Given the description of an element on the screen output the (x, y) to click on. 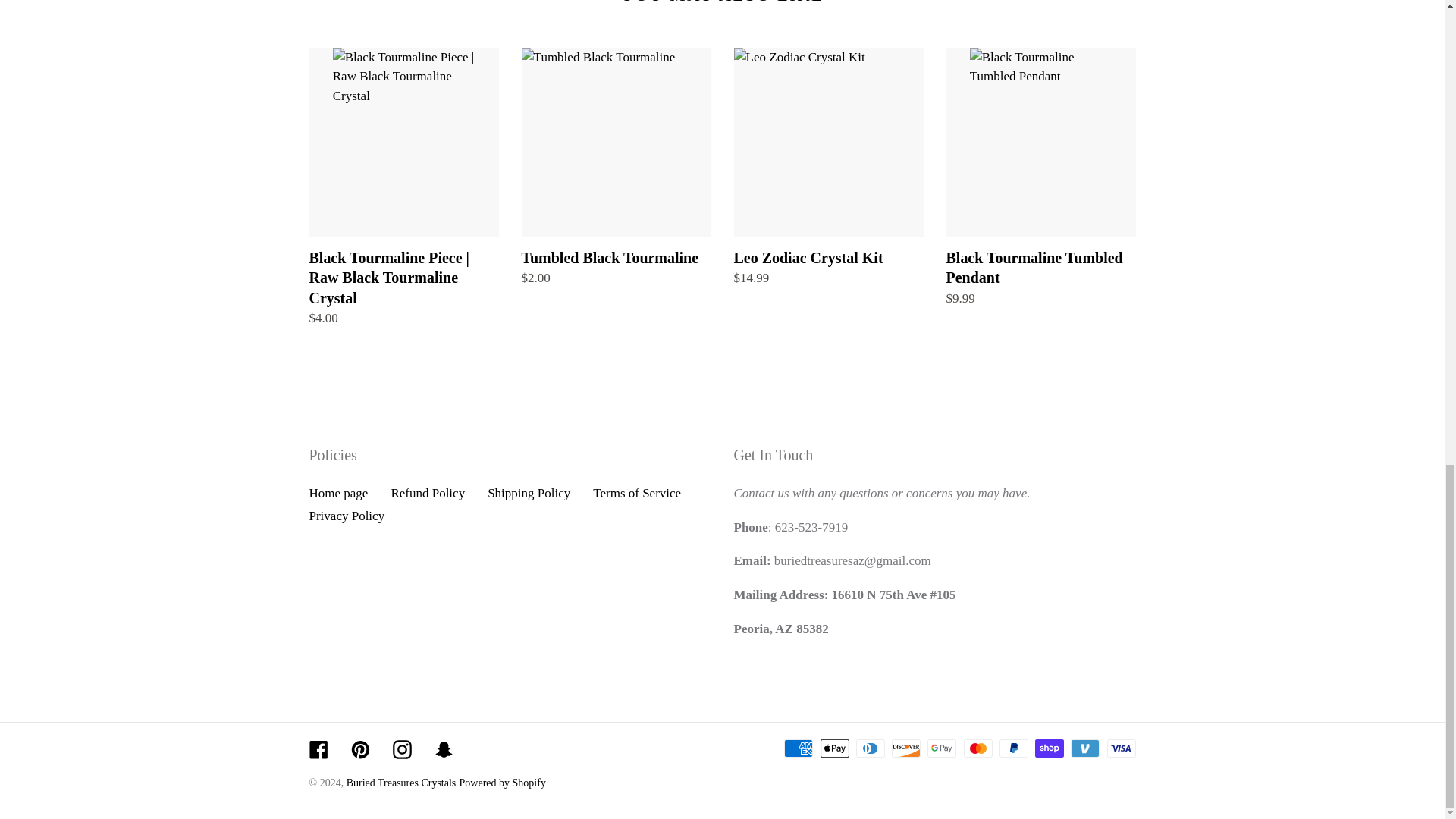
Home page (338, 493)
Shipping Policy (528, 493)
Refund Policy (427, 493)
